Given the description of an element on the screen output the (x, y) to click on. 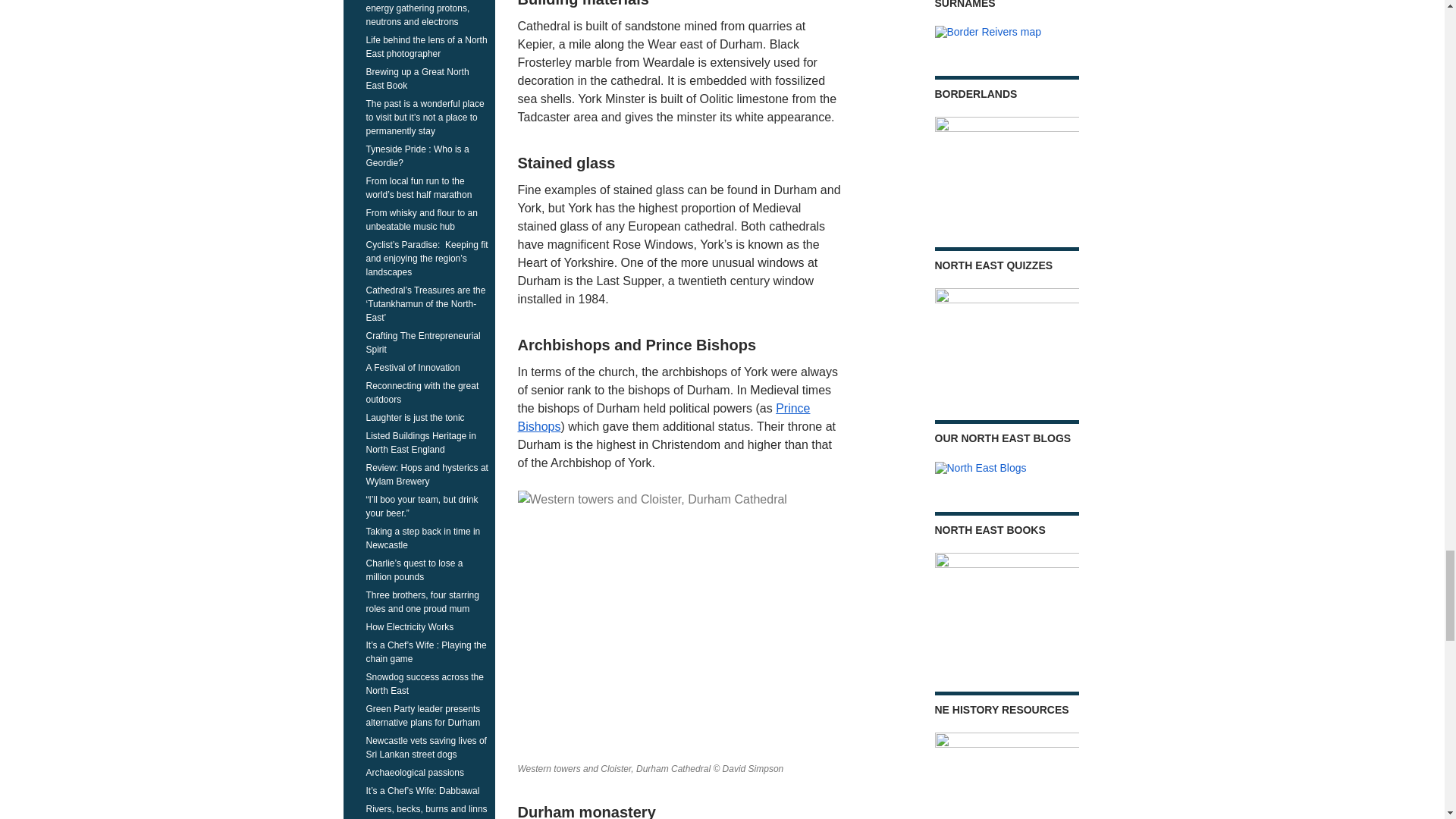
Border Reiver Surnames Map (987, 32)
